Given the description of an element on the screen output the (x, y) to click on. 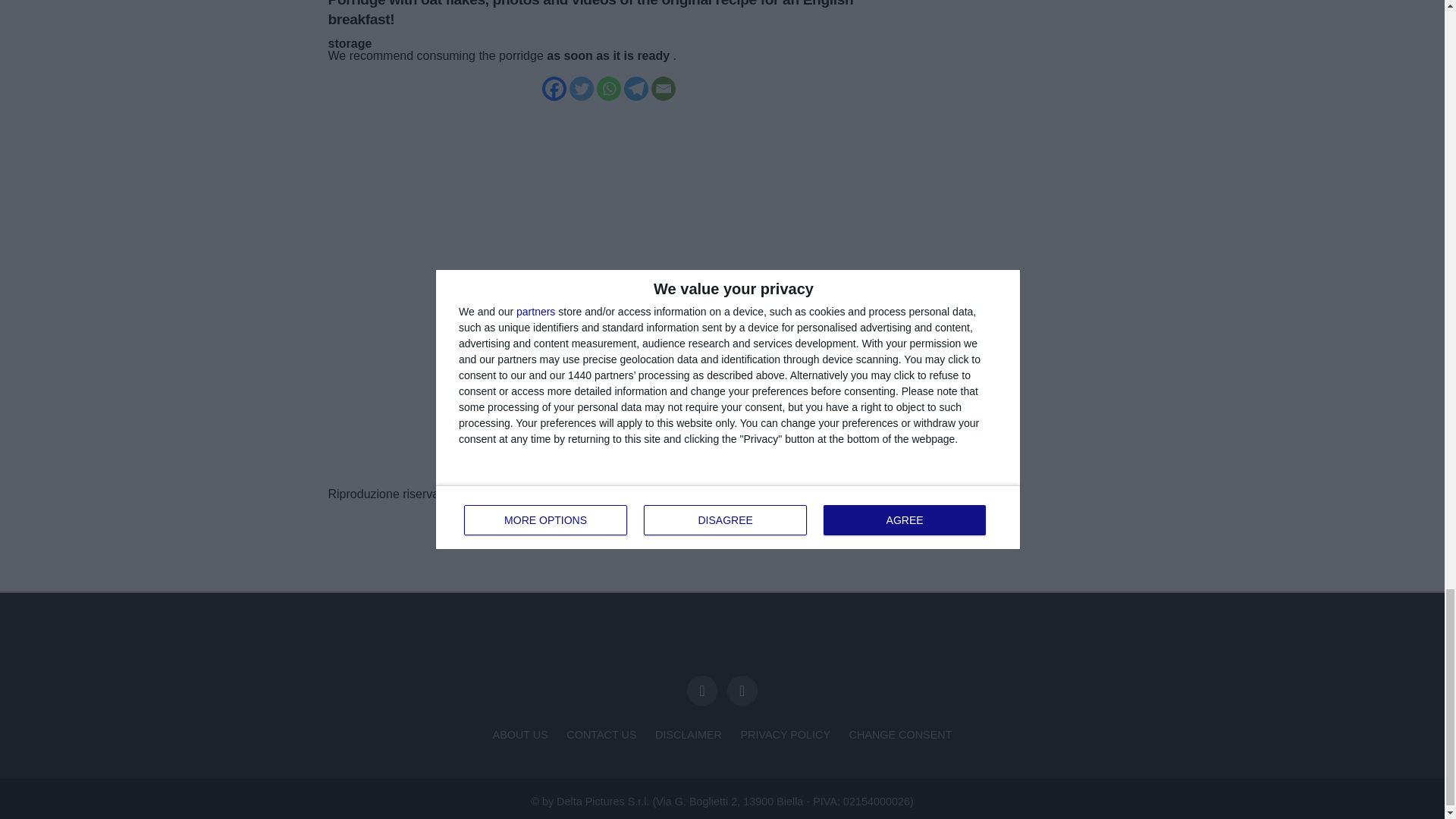
Telegram (635, 88)
Whatsapp (607, 88)
Facebook (553, 88)
Twitter (580, 88)
Email (662, 88)
